Given the description of an element on the screen output the (x, y) to click on. 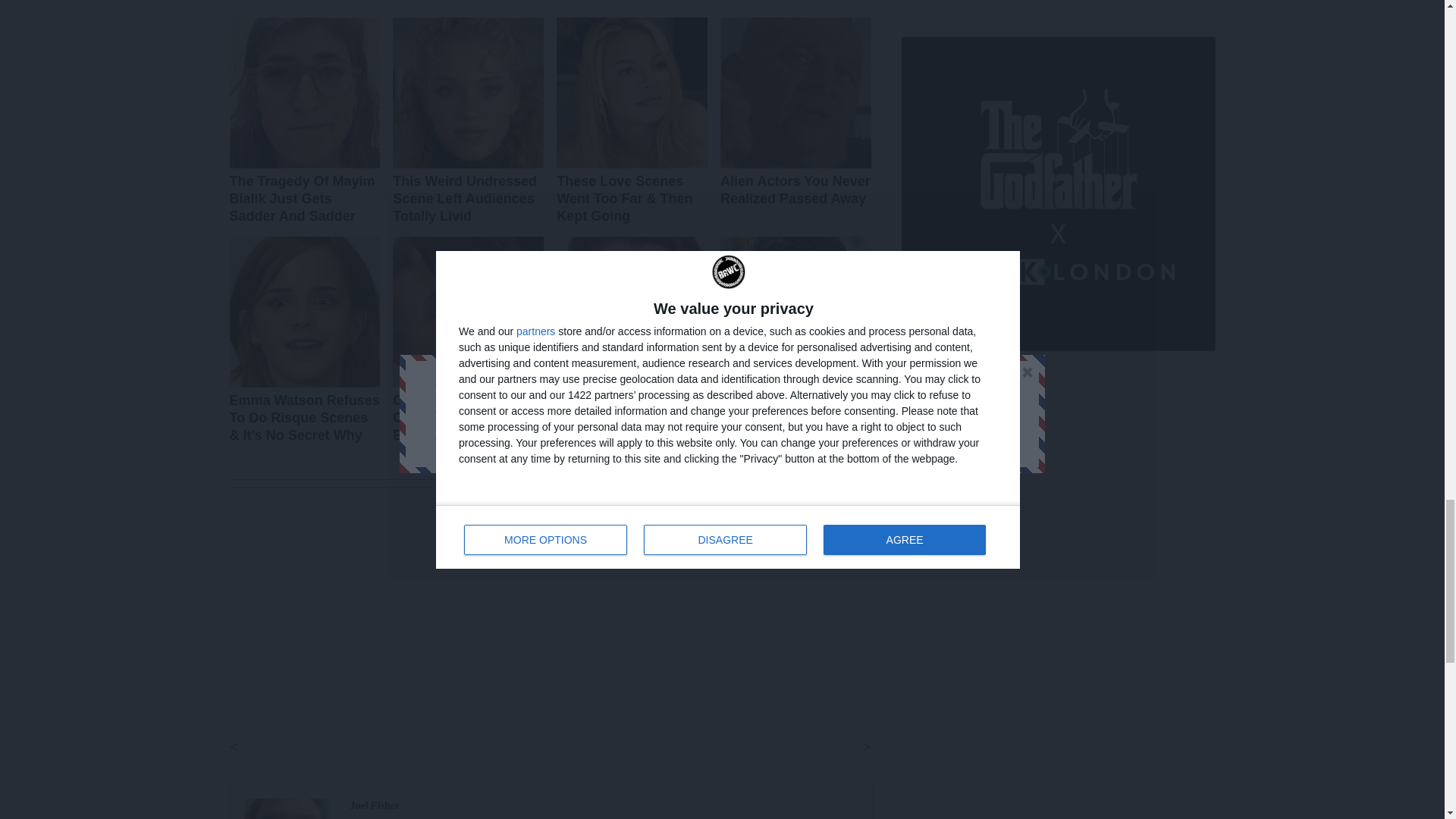
French Exit: Review (375, 805)
French Exit: Review (287, 808)
